Given the description of an element on the screen output the (x, y) to click on. 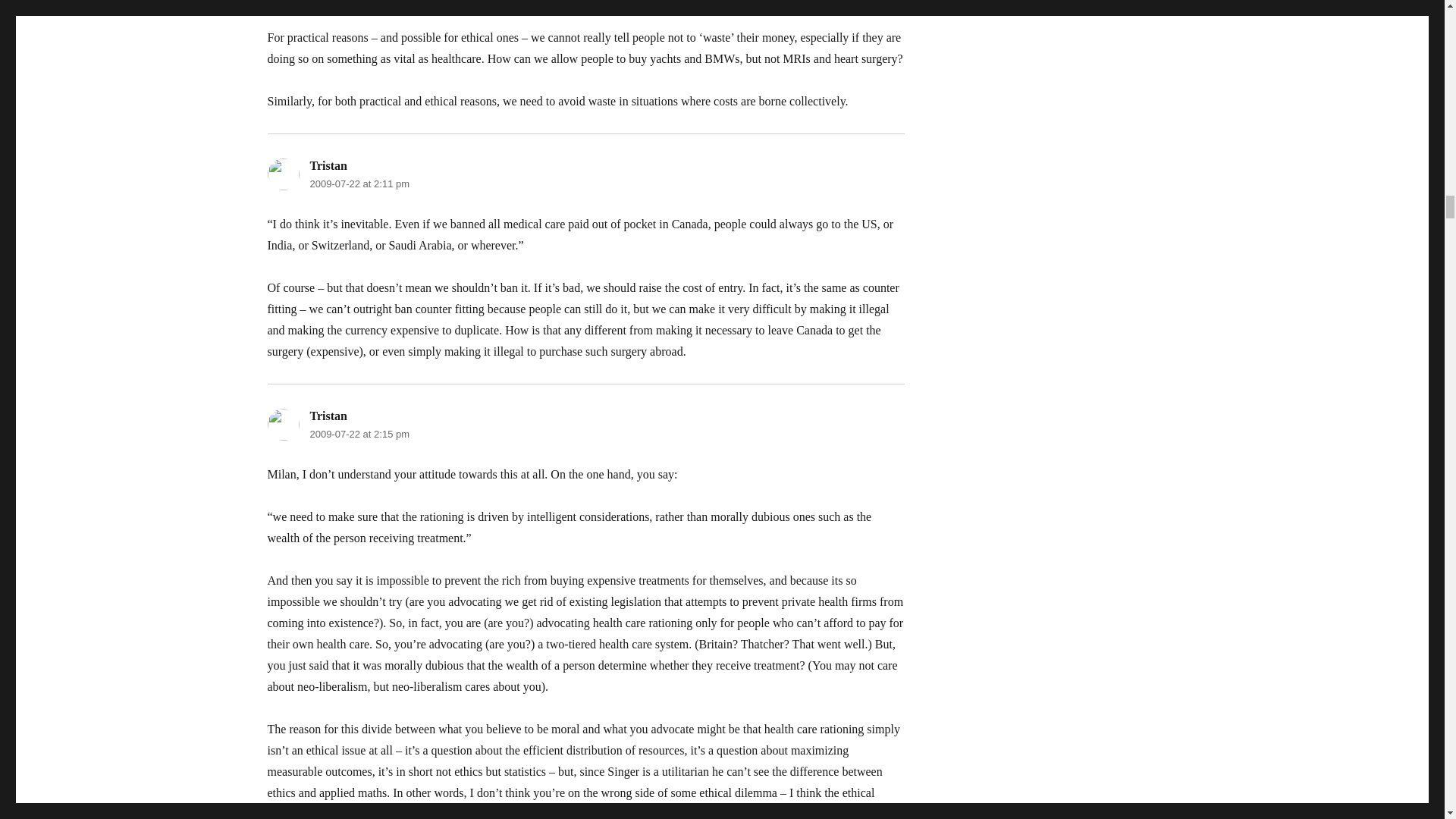
2009-07-22 at 2:15 pm (358, 433)
2009-07-22 at 2:11 pm (358, 183)
2009-07-22 at 10:28 am (361, 1)
